Given the description of an element on the screen output the (x, y) to click on. 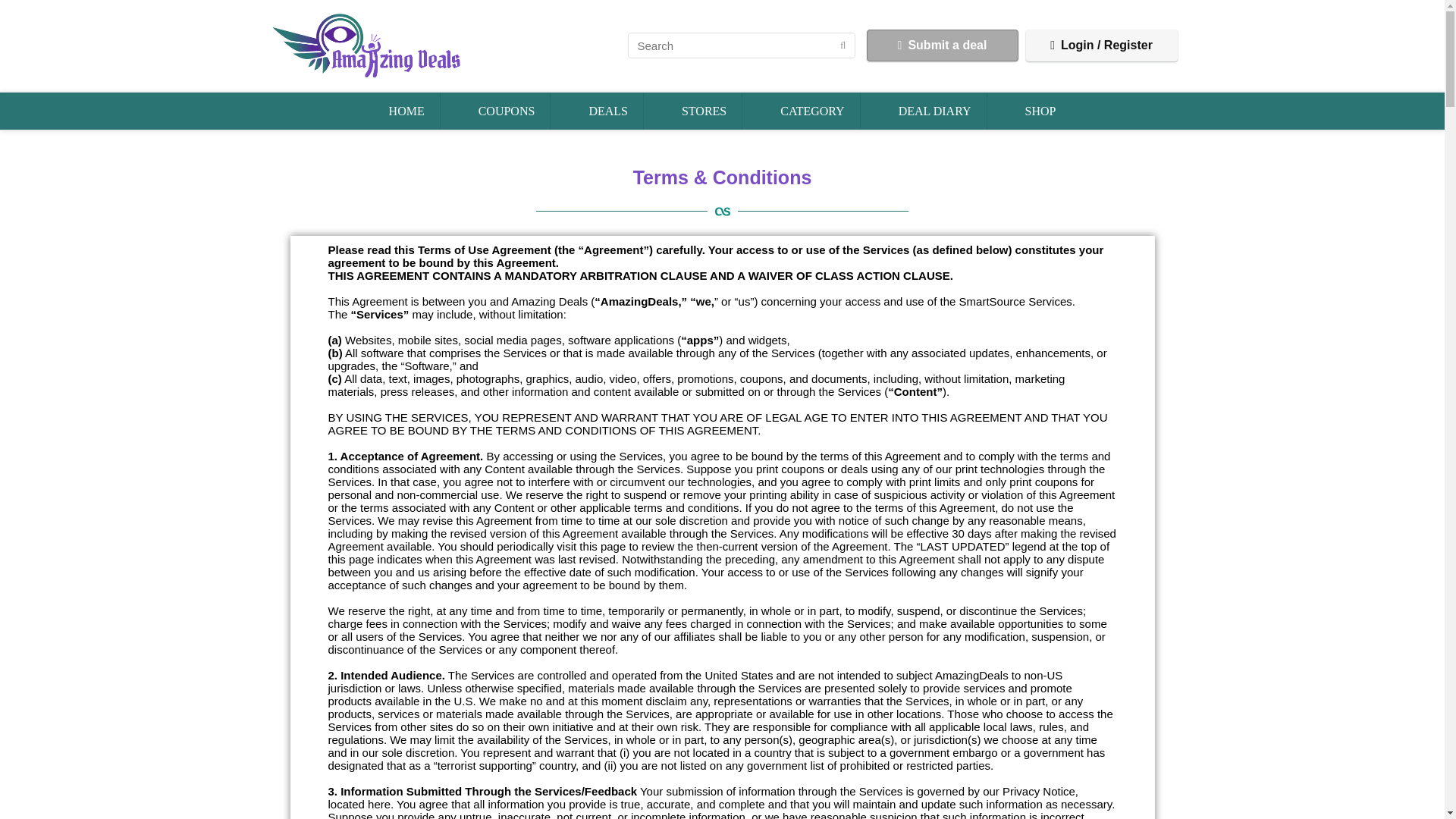
DEAL DIARY (935, 110)
COUPONS (506, 110)
HOME (406, 110)
SHOP (1040, 110)
DEALS (608, 110)
STORES (703, 110)
CATEGORY (812, 110)
Submit a deal (941, 45)
